Given the description of an element on the screen output the (x, y) to click on. 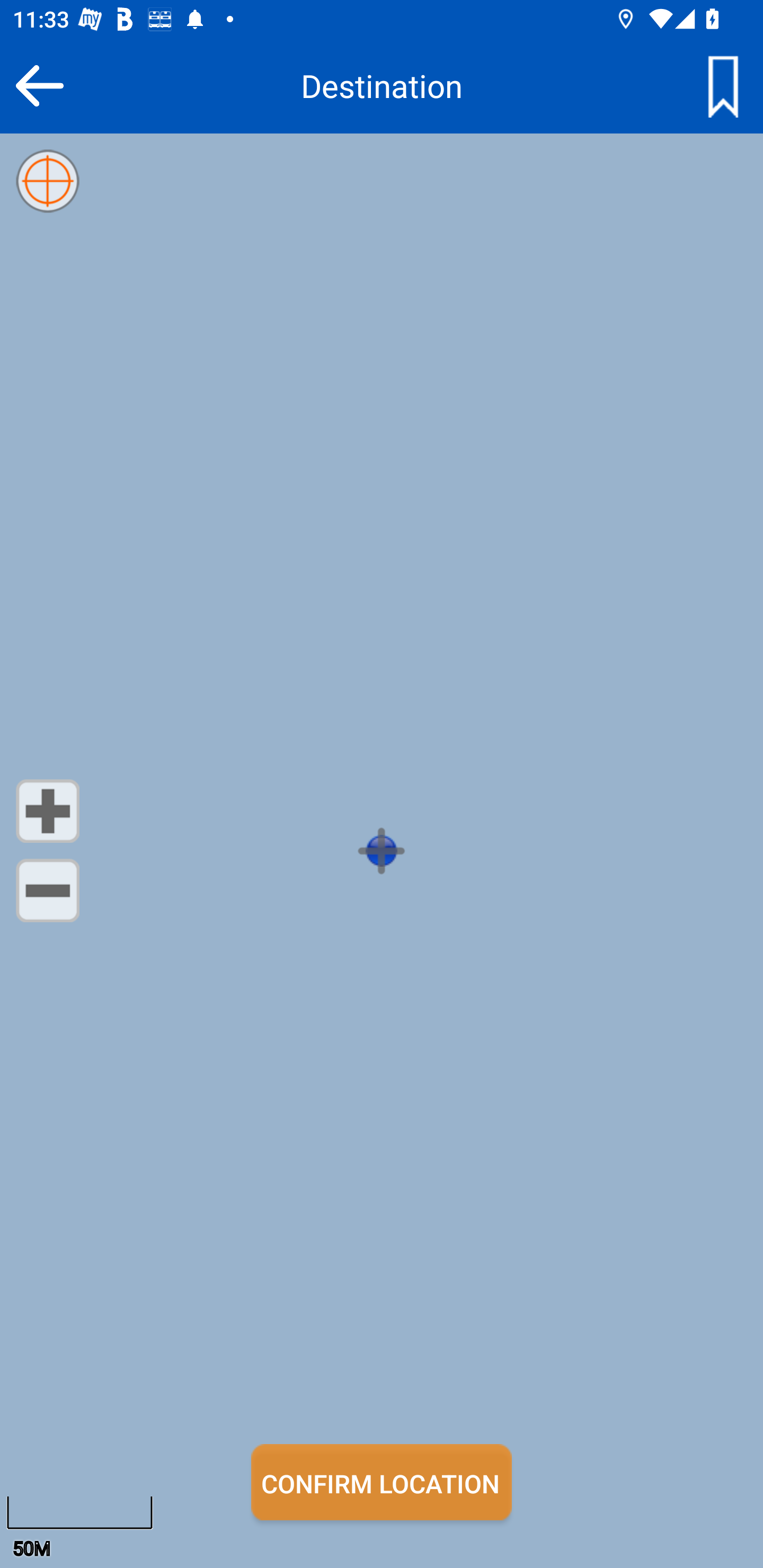
Add bookmark (723, 85)
Back (39, 85)
CONFIRM LOCATION (381, 1482)
